Given the description of an element on the screen output the (x, y) to click on. 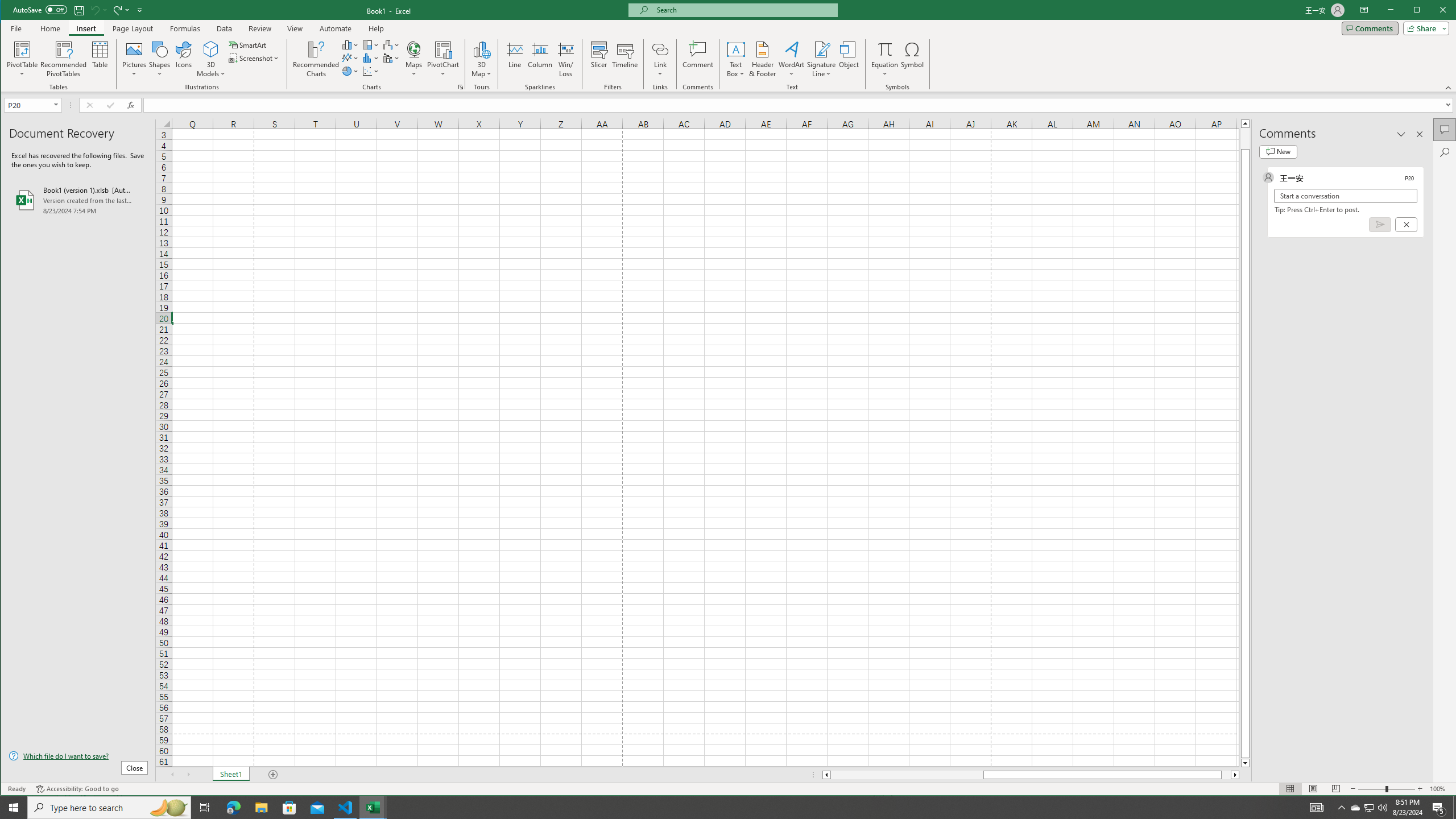
Screenshot (254, 57)
File Explorer (261, 807)
SmartArt... (248, 44)
Start a conversation (1344, 195)
PivotChart (443, 48)
